Given the description of an element on the screen output the (x, y) to click on. 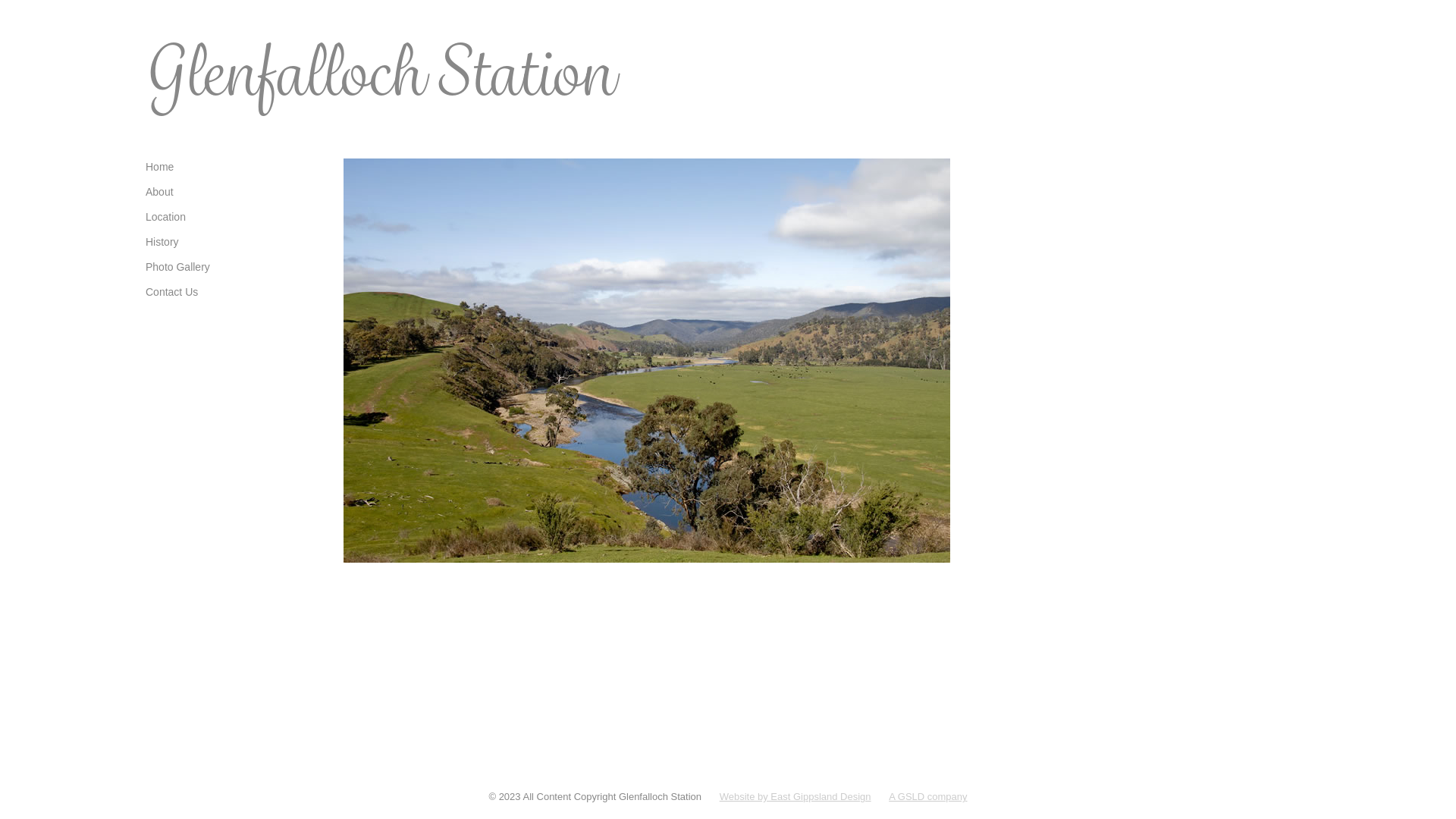
A GSLD company Element type: text (927, 796)
Location Element type: text (232, 220)
History Element type: text (232, 245)
Home Element type: text (232, 169)
Photo Gallery Element type: text (232, 270)
Glenfalloch Station Element type: text (378, 71)
Website by East Gippsland Design Element type: text (795, 796)
Contact Us Element type: text (232, 295)
About Element type: text (232, 195)
